Given the description of an element on the screen output the (x, y) to click on. 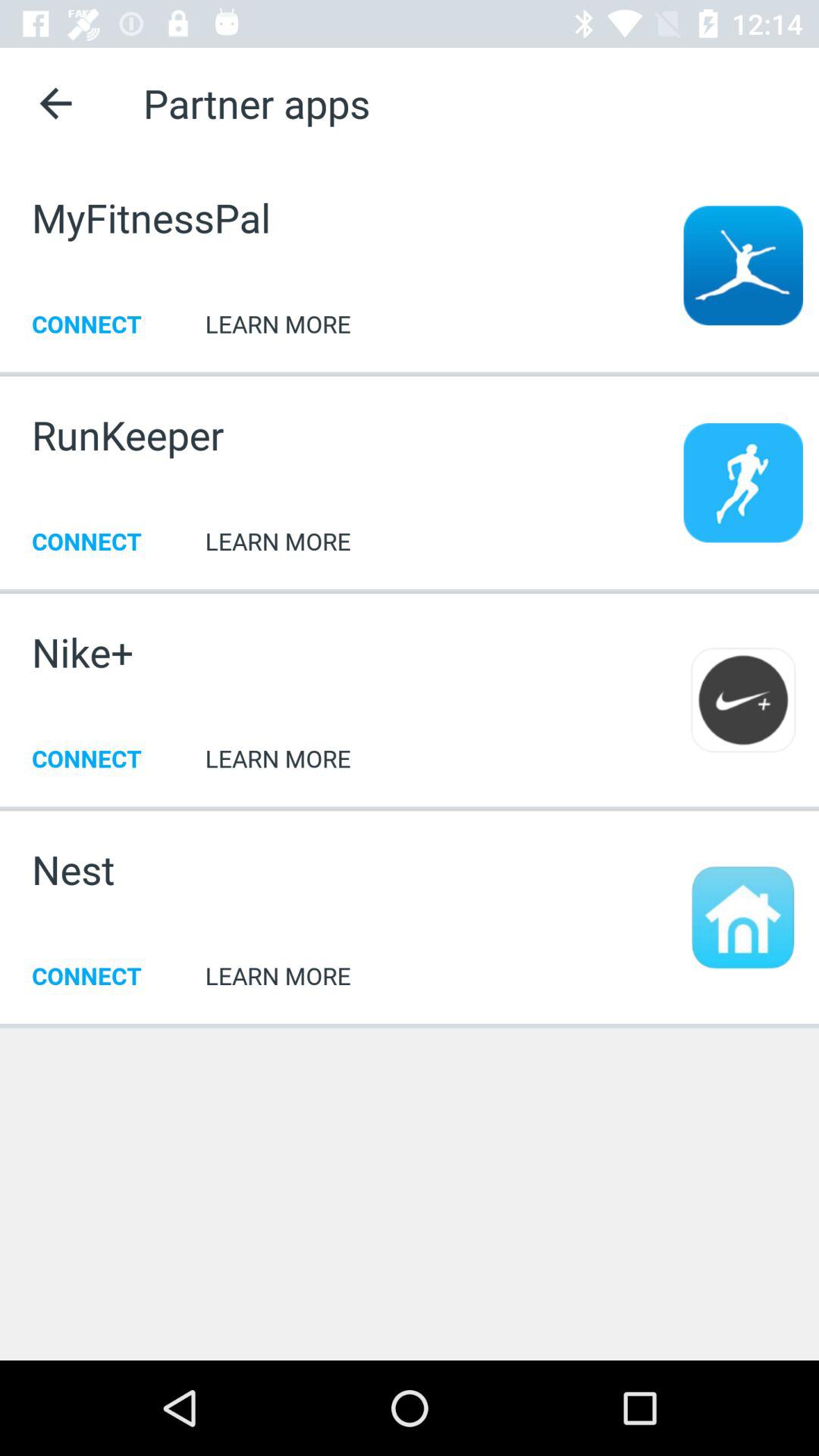
launch icon to the left of the learn more icon (73, 869)
